Given the description of an element on the screen output the (x, y) to click on. 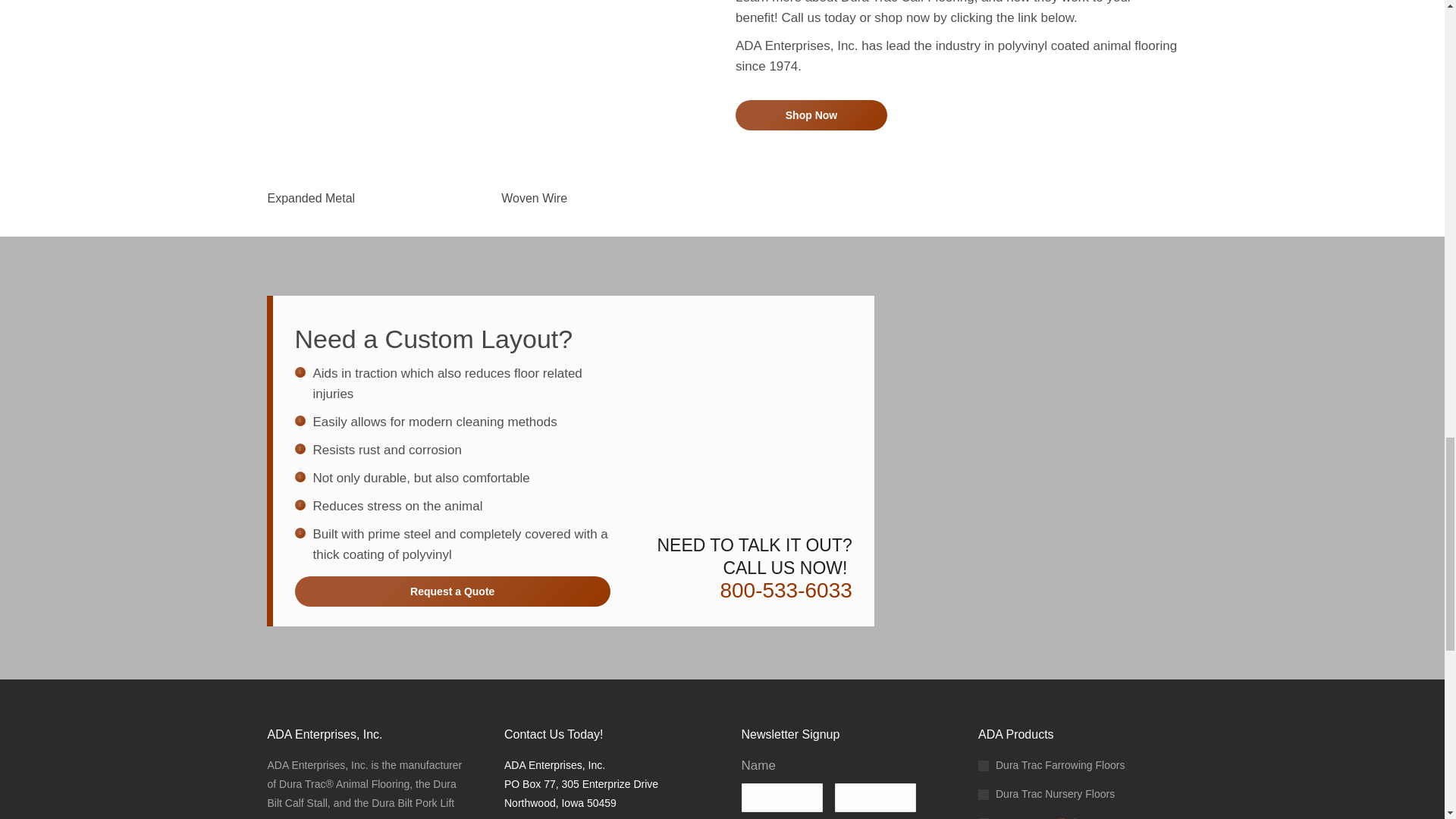
Shop Now (810, 114)
CalfExpSample-750 (370, 88)
